Given the description of an element on the screen output the (x, y) to click on. 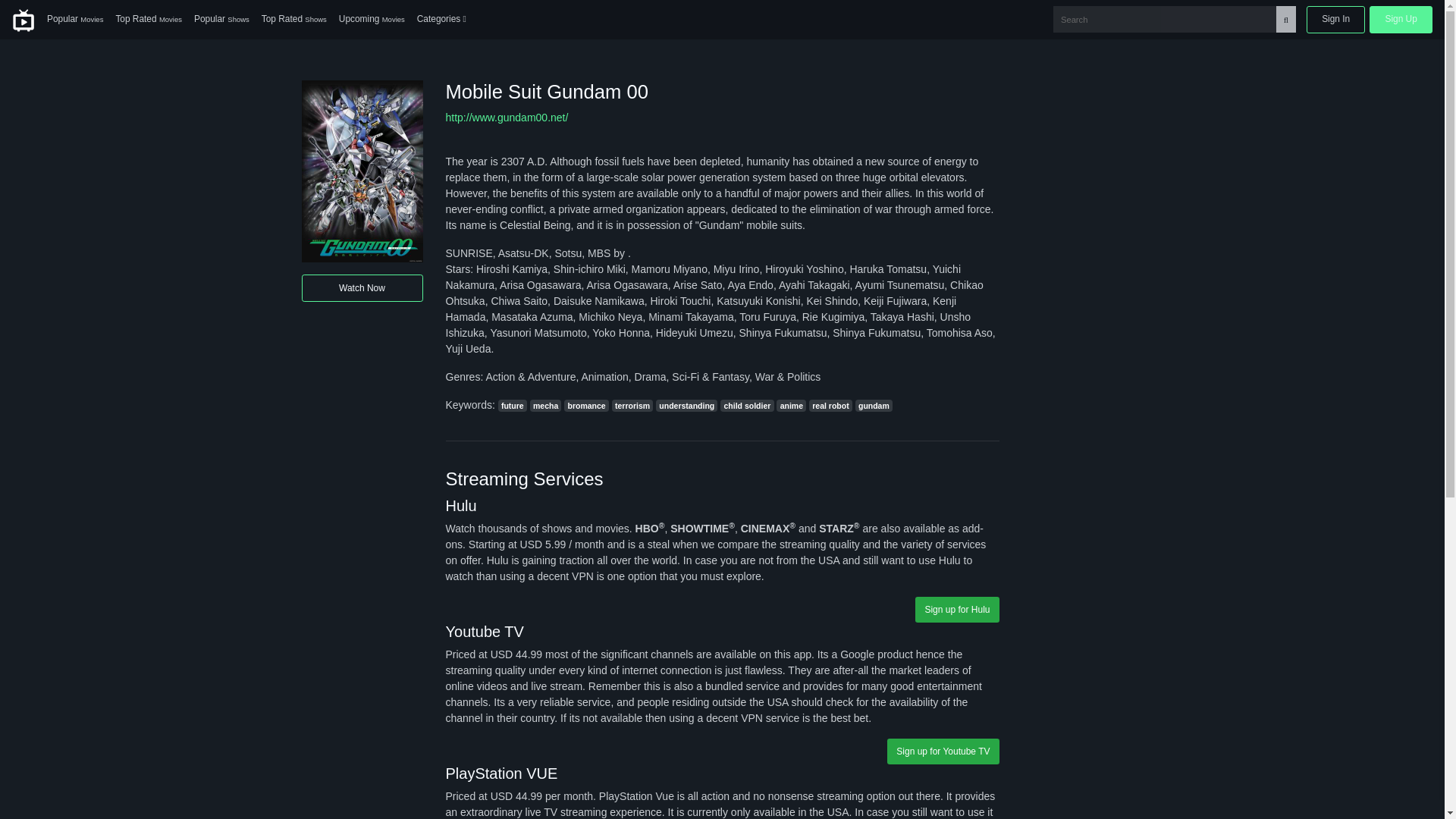
Top Rated Shows (294, 19)
Upcoming Movies (371, 19)
Top Rated Movies (148, 19)
Categories (440, 19)
Popular Movies (74, 19)
Popular Shows (221, 19)
